Given the description of an element on the screen output the (x, y) to click on. 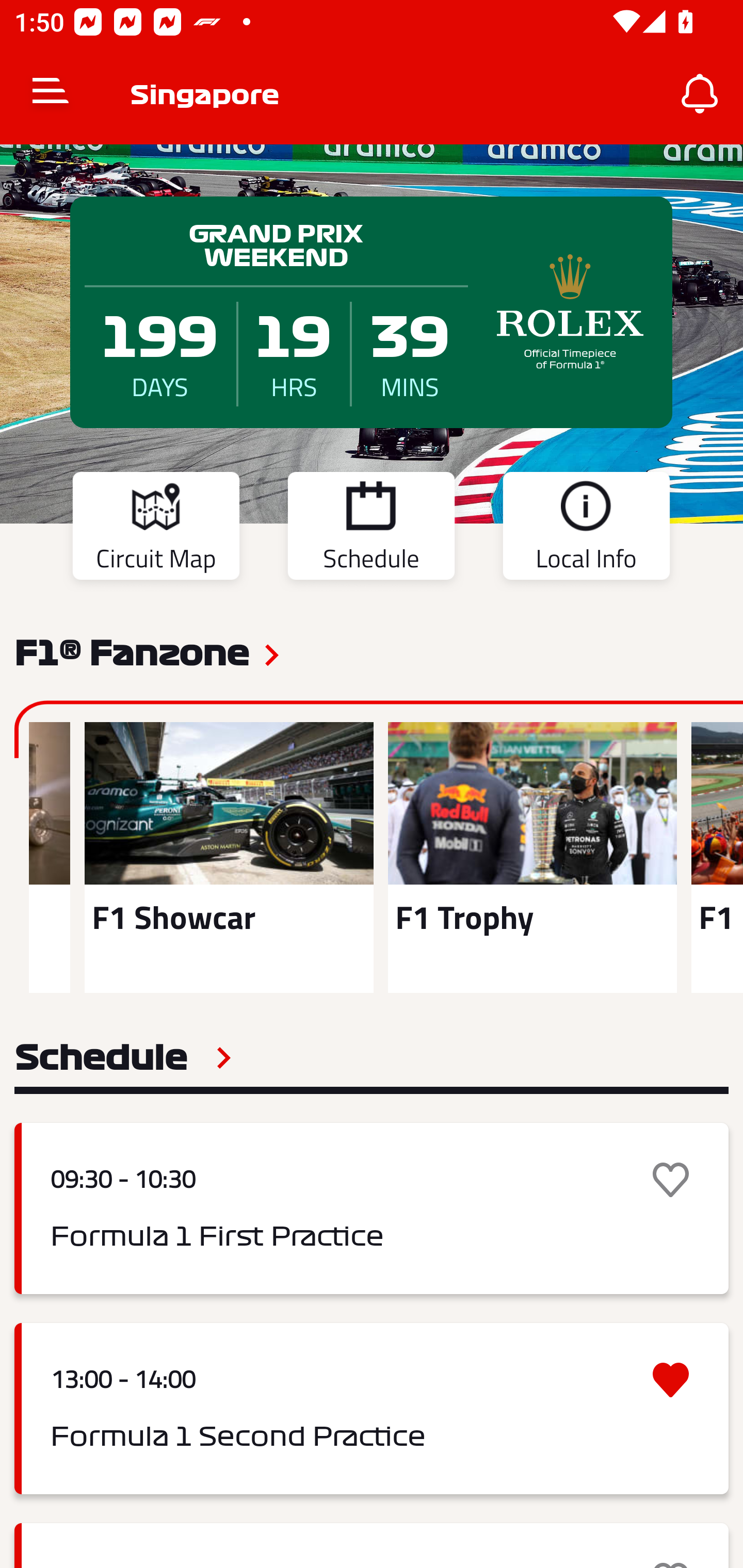
Navigate up (50, 93)
Notifications (699, 93)
Circuit Map (155, 528)
Schedule (370, 528)
Local Info (586, 528)
F1® Fanzone (131, 651)
F1 Showcar (228, 857)
F1 Trophy (531, 857)
Schedule (122, 1057)
09:30 - 10:30 Formula 1 First Practice (371, 1207)
13:00 - 14:00 Formula 1 Second Practice (371, 1408)
